Given the description of an element on the screen output the (x, y) to click on. 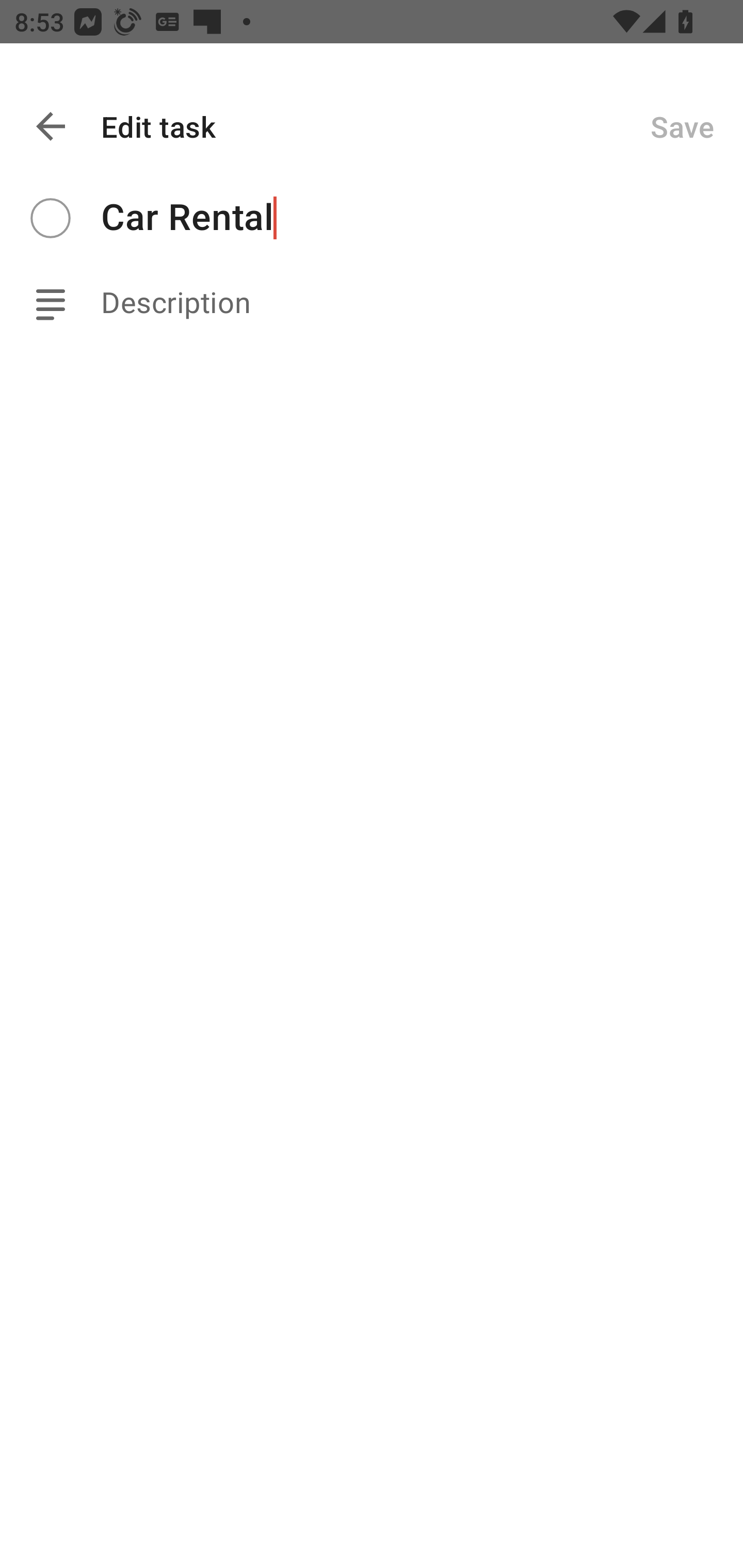
Save (681, 126)
Car Rental (422, 217)
Description (422, 303)
